Given the description of an element on the screen output the (x, y) to click on. 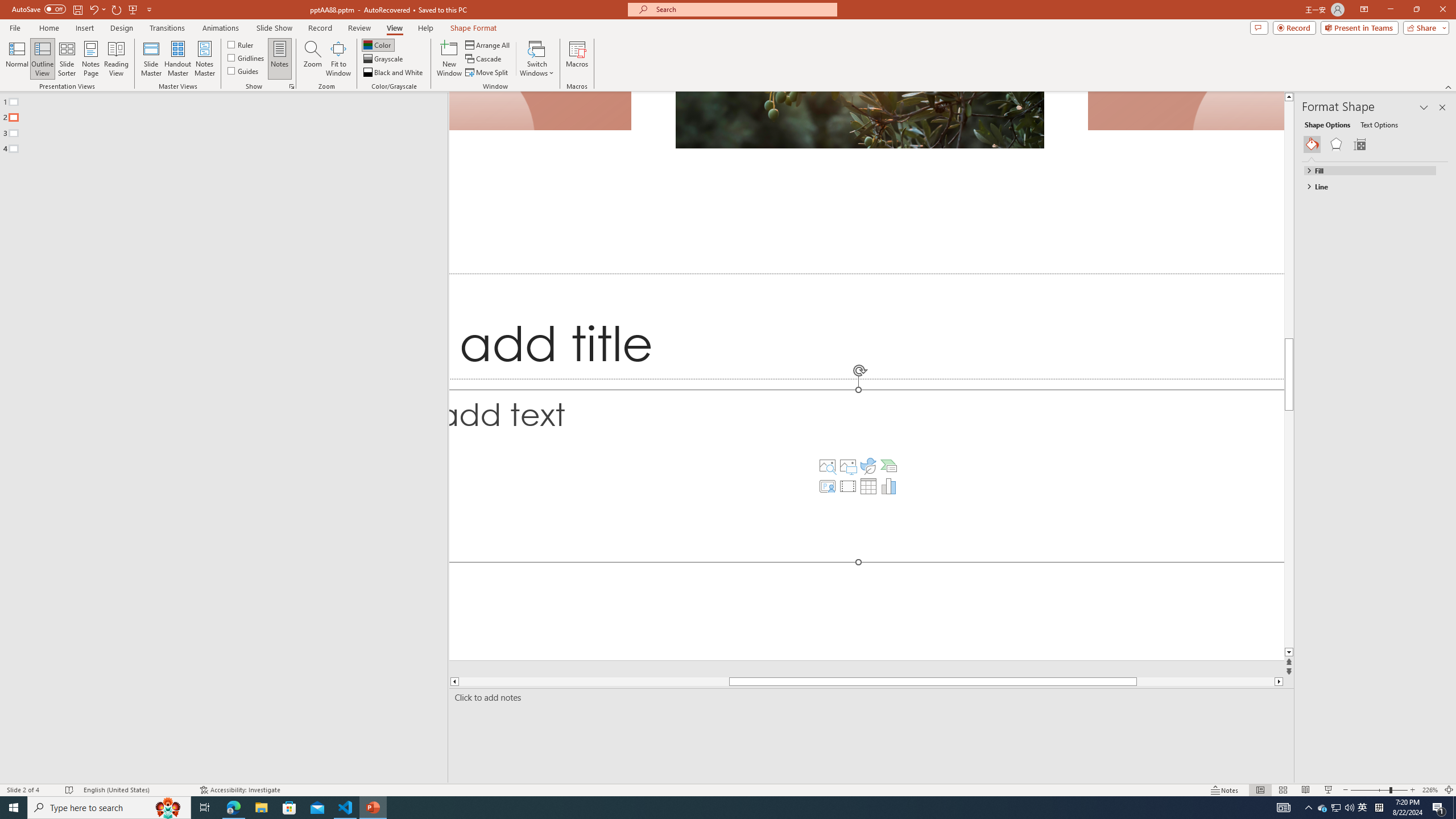
Fill (1370, 170)
Slide Master (151, 58)
